Given the description of an element on the screen output the (x, y) to click on. 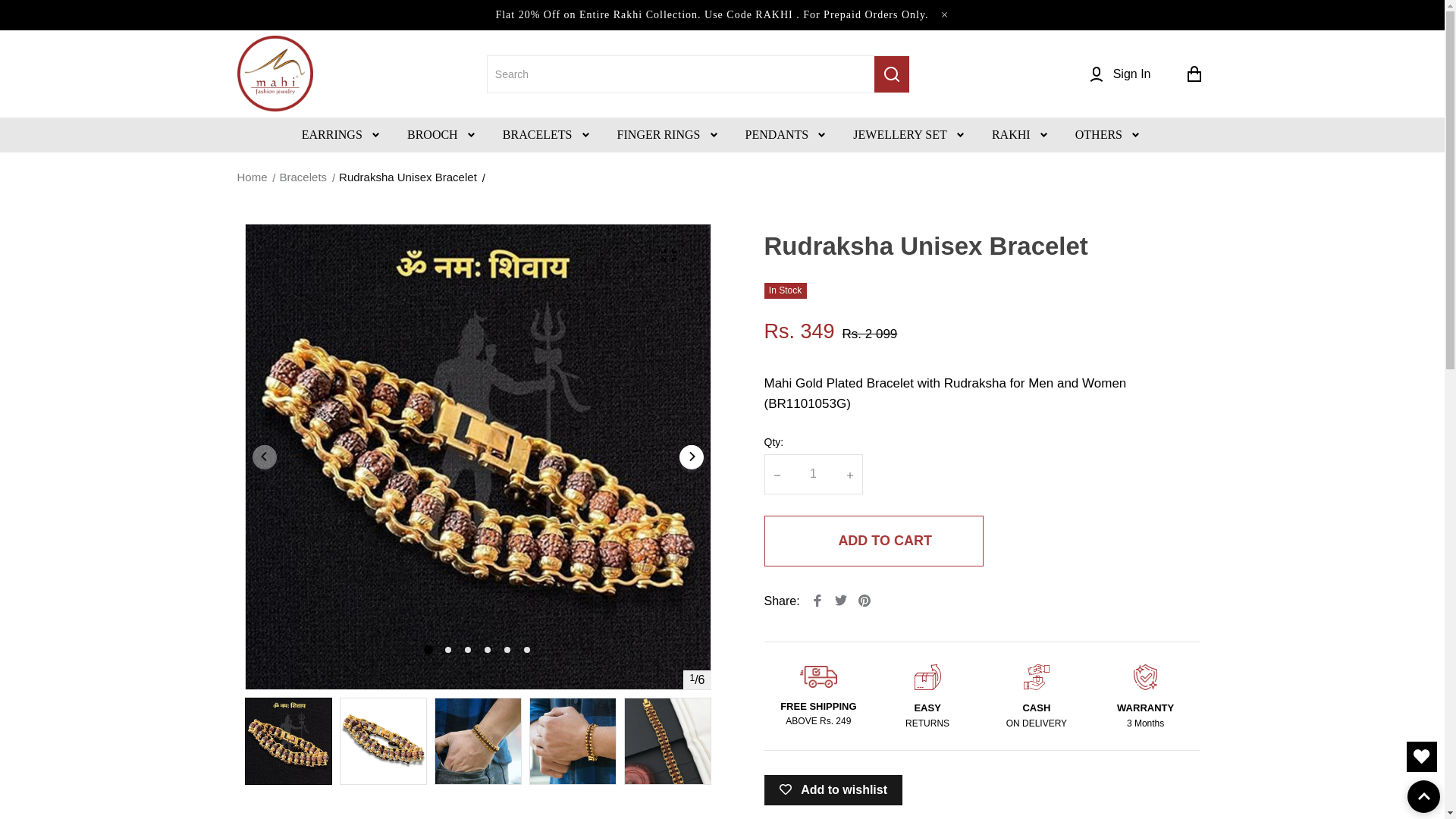
1 (812, 474)
Share (817, 600)
 Sign In (1118, 74)
Share (864, 600)
Share (840, 600)
